Given the description of an element on the screen output the (x, y) to click on. 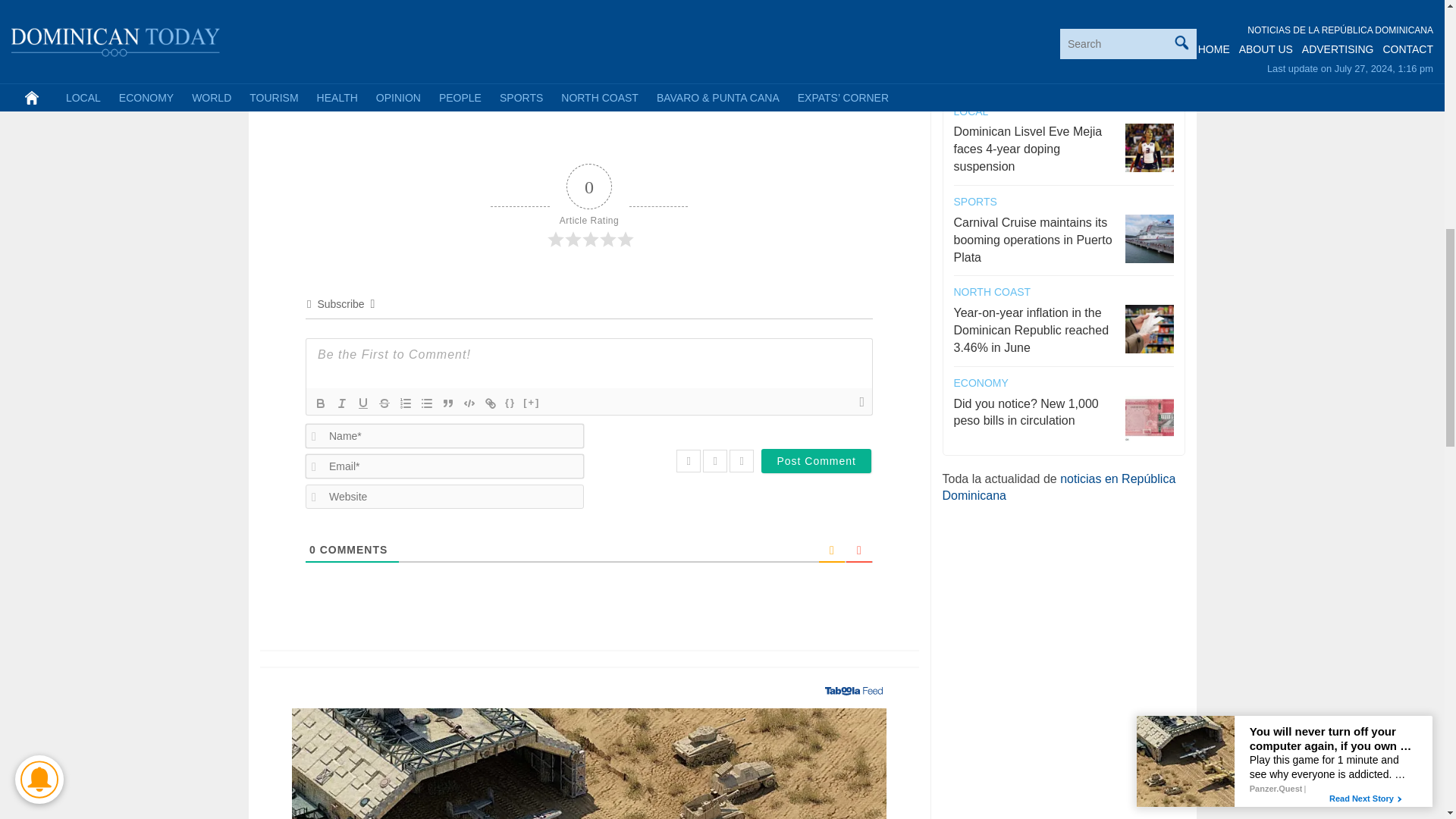
Blockquote (448, 402)
Italic (341, 402)
If you own a mouse, you have to play this game. (365, 35)
Ordered List (405, 402)
Post Comment (365, 35)
Play Now (815, 460)
Unordered List (890, 72)
Code Block (427, 402)
Play Now (469, 402)
Bold (667, 54)
